Given the description of an element on the screen output the (x, y) to click on. 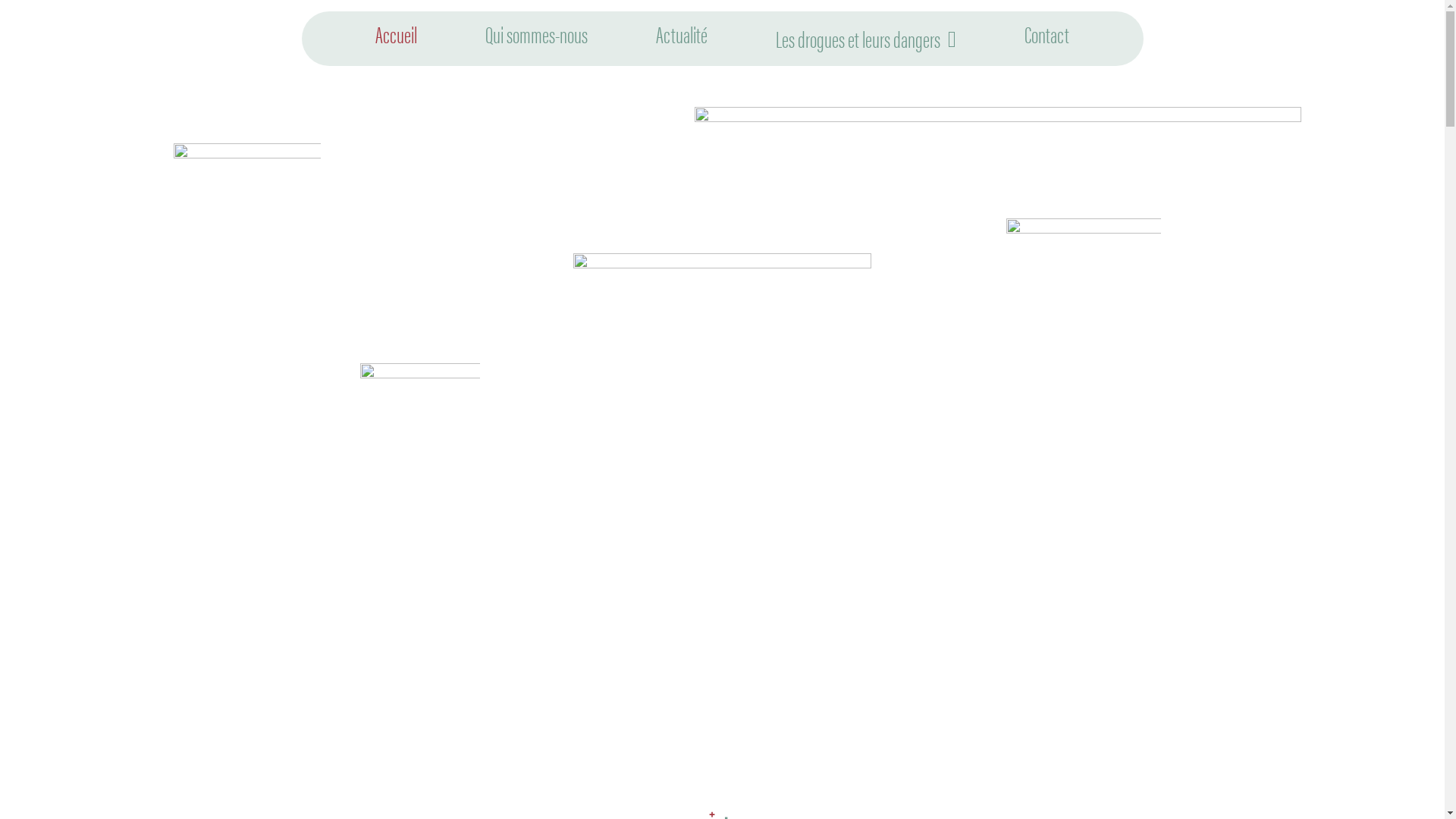
Accueil Element type: text (396, 33)
Qui sommes-nous Element type: text (536, 33)
Les drogues et leurs dangers Element type: text (865, 38)
Contact Element type: text (1046, 33)
